Given the description of an element on the screen output the (x, y) to click on. 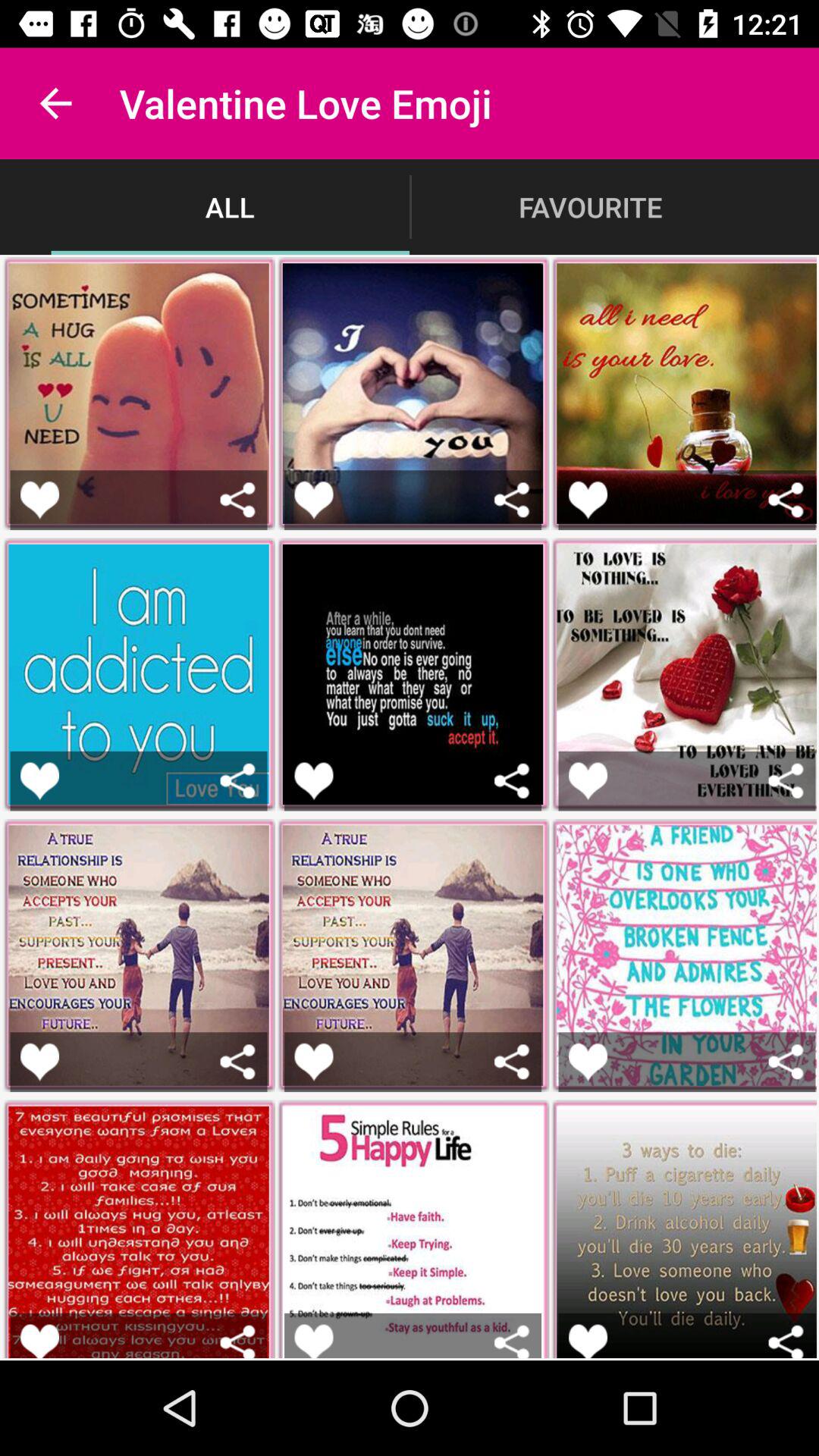
share picture (785, 499)
